Given the description of an element on the screen output the (x, y) to click on. 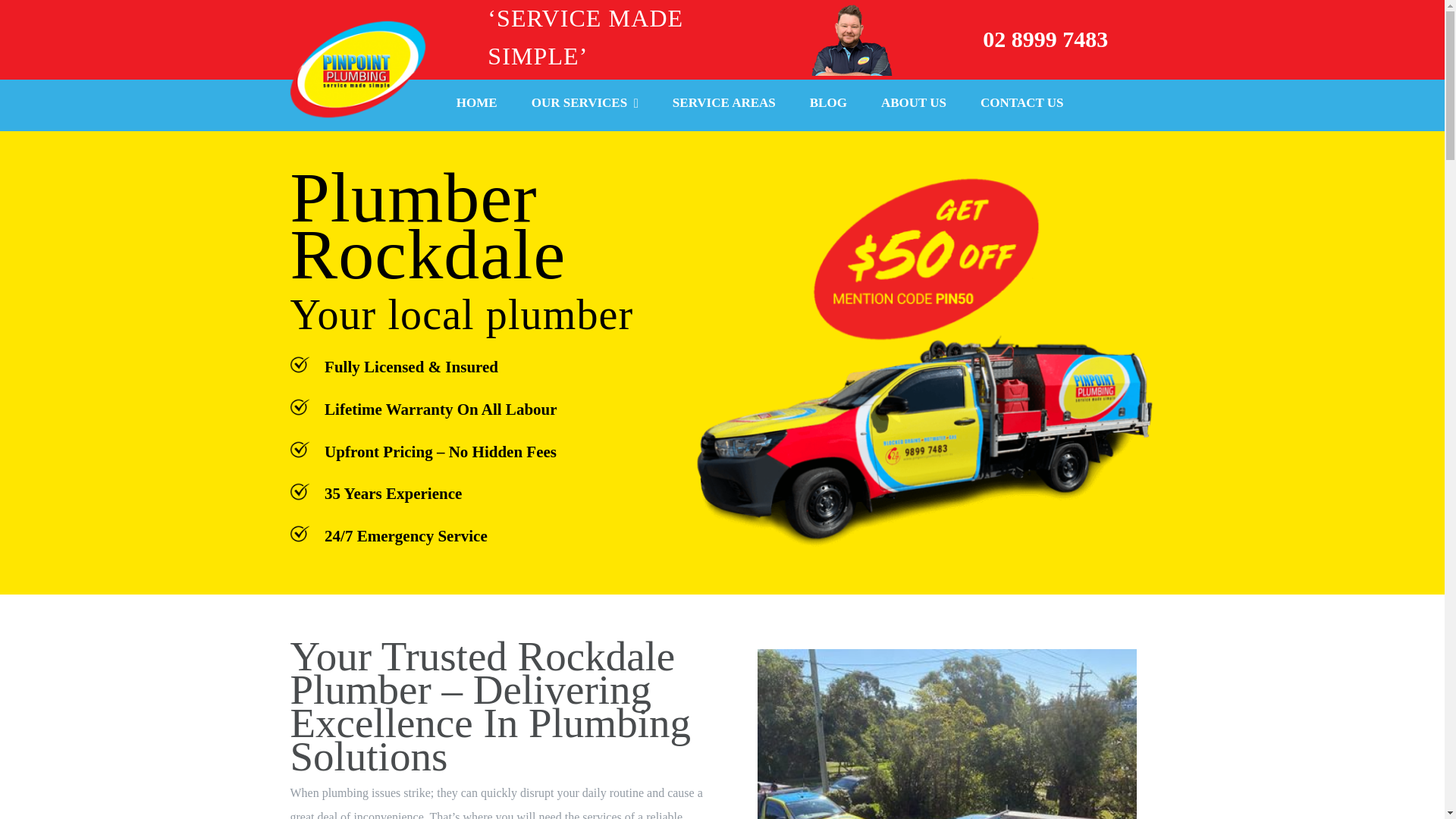
Chris (851, 40)
black-tick (298, 406)
OUR SERVICES (585, 105)
SERVICE AREAS (724, 105)
black-tick (298, 491)
ABOUT US (913, 105)
black-tick (298, 533)
Pinpoint-Plumbing-Retina (357, 68)
CONTACT US (1020, 105)
